Given the description of an element on the screen output the (x, y) to click on. 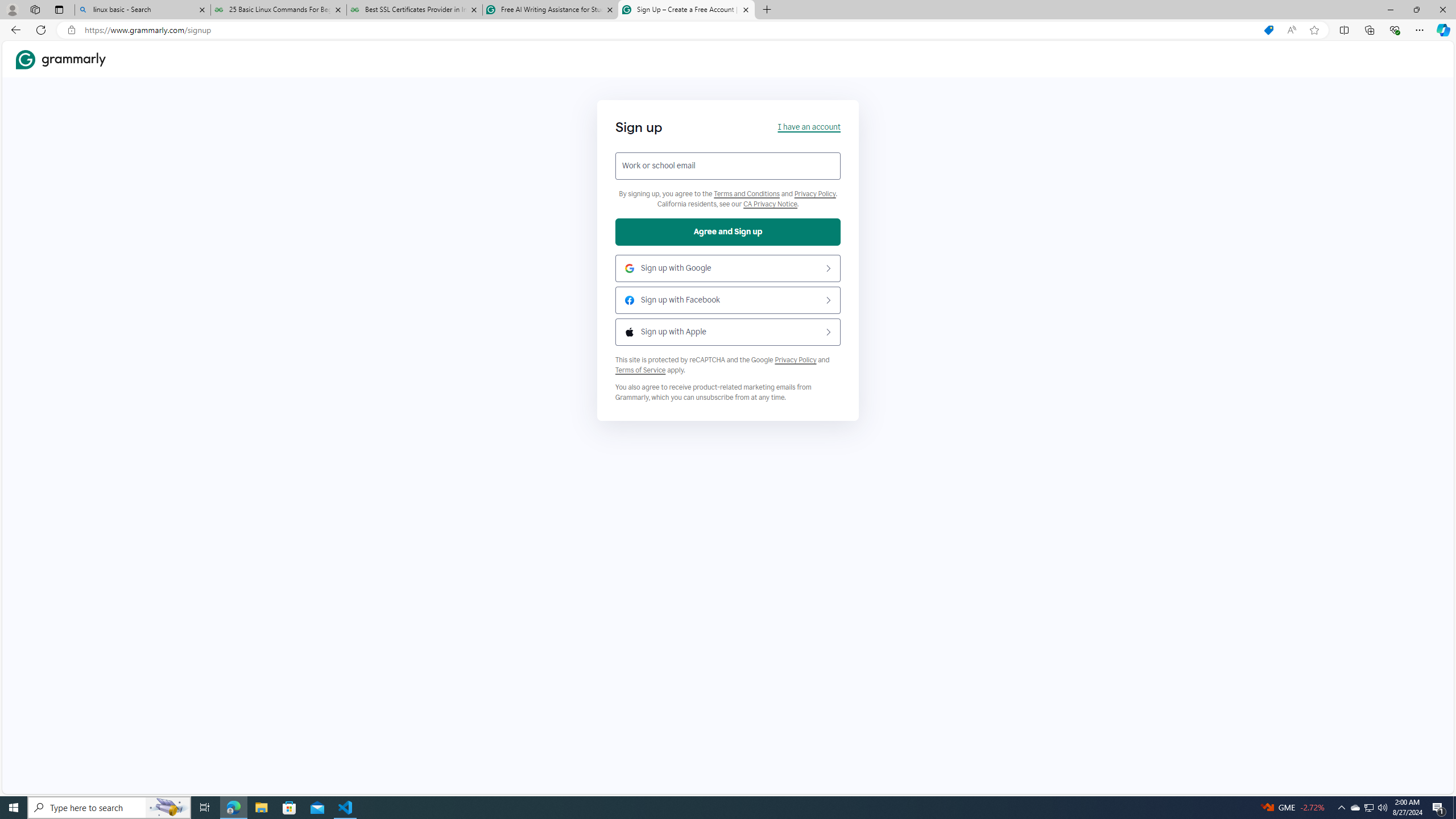
linux basic - Search (142, 9)
Grammarly Home (61, 58)
Google Privacy Policy (795, 359)
Agree and Sign up (727, 231)
I have an account (808, 126)
